Given the description of an element on the screen output the (x, y) to click on. 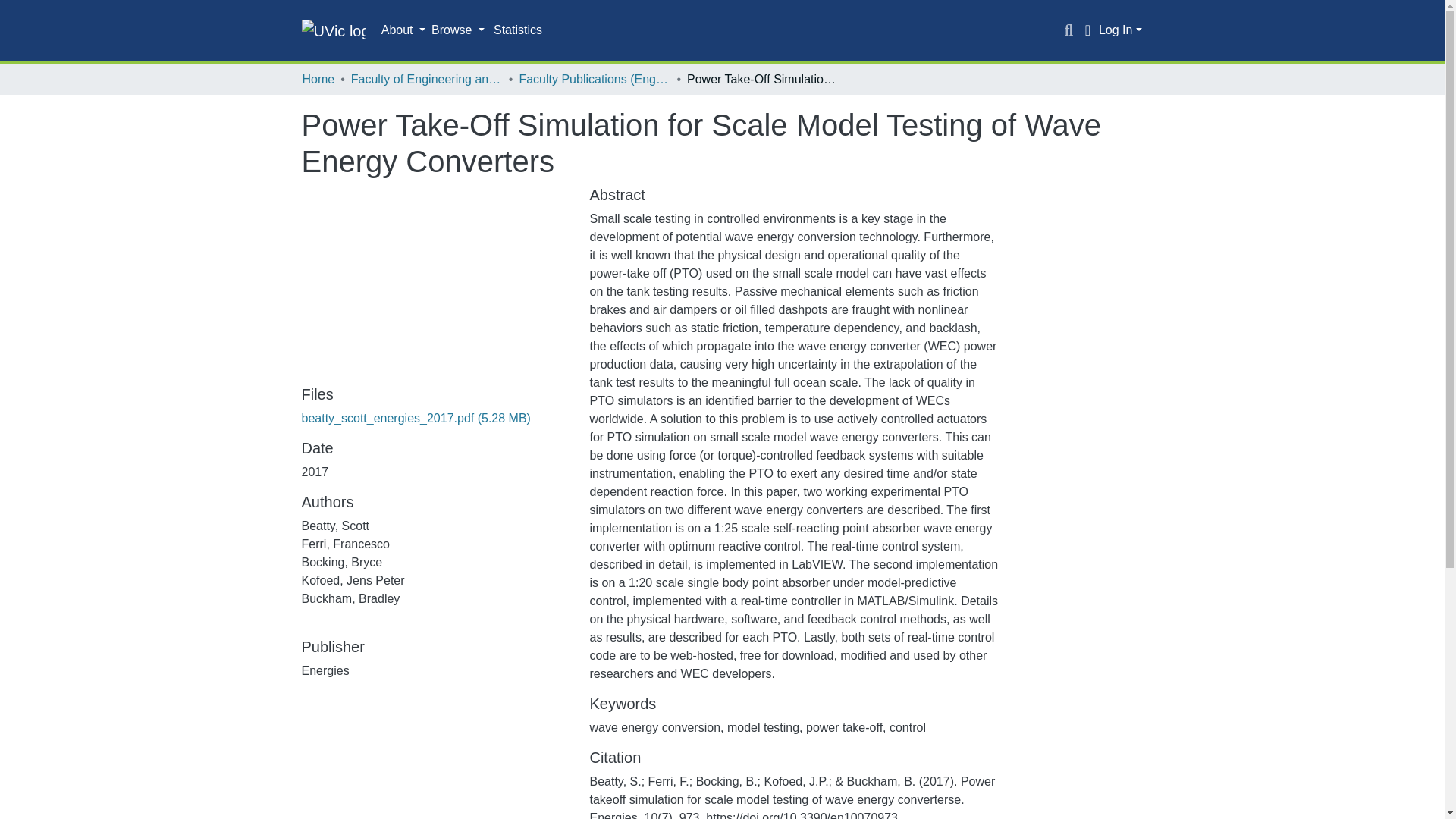
Statistics (517, 30)
Faculty of Engineering and Computer Science (426, 79)
Log In (1119, 29)
Browse (457, 30)
Search (1068, 30)
Language switch (1087, 30)
Statistics (517, 30)
Home (317, 79)
About (403, 30)
